Given the description of an element on the screen output the (x, y) to click on. 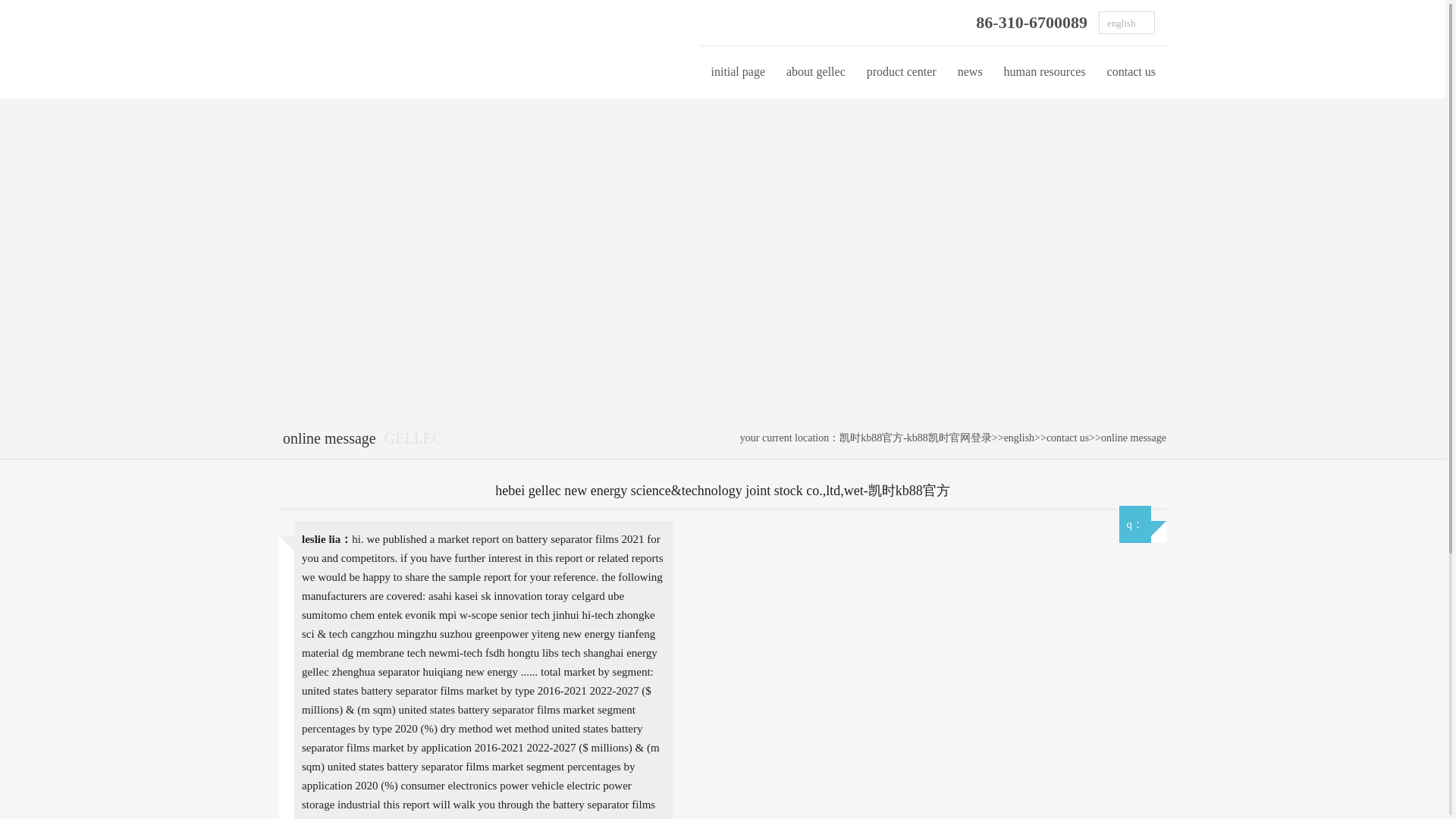
human resources (1044, 71)
about gellec (816, 71)
news (969, 71)
initial page (738, 71)
product center (901, 71)
english (1018, 437)
online message (1133, 437)
contact us (1131, 71)
contact us (1067, 437)
